Given the description of an element on the screen output the (x, y) to click on. 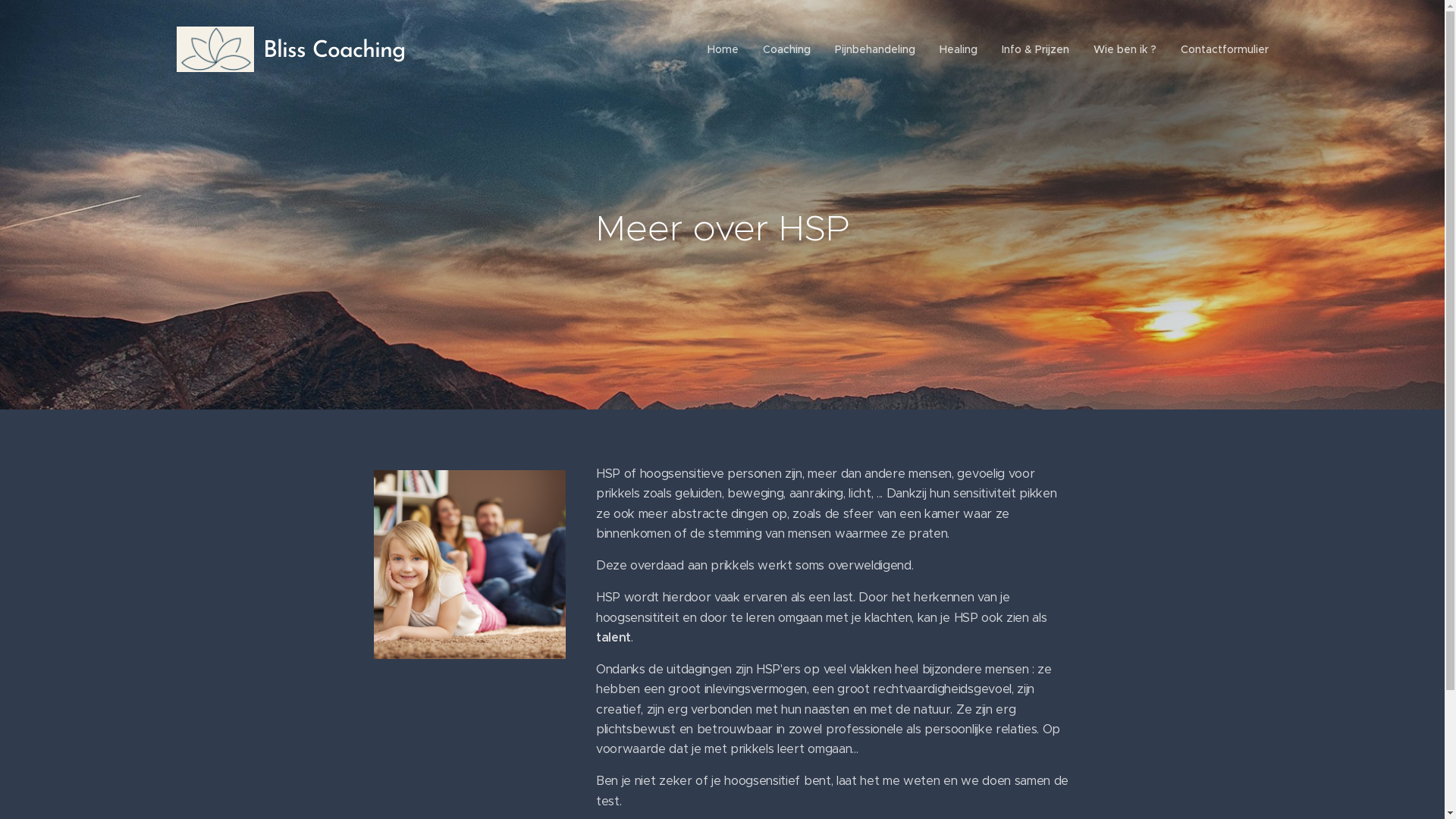
Coaching Element type: text (786, 49)
Home Element type: text (726, 49)
Pijnbehandeling Element type: text (874, 49)
Info & Prijzen Element type: text (1034, 49)
Bliss Coaching Element type: text (292, 49)
Contactformulier Element type: text (1217, 49)
Wie ben ik ? Element type: text (1124, 49)
Healing Element type: text (957, 49)
